Given the description of an element on the screen output the (x, y) to click on. 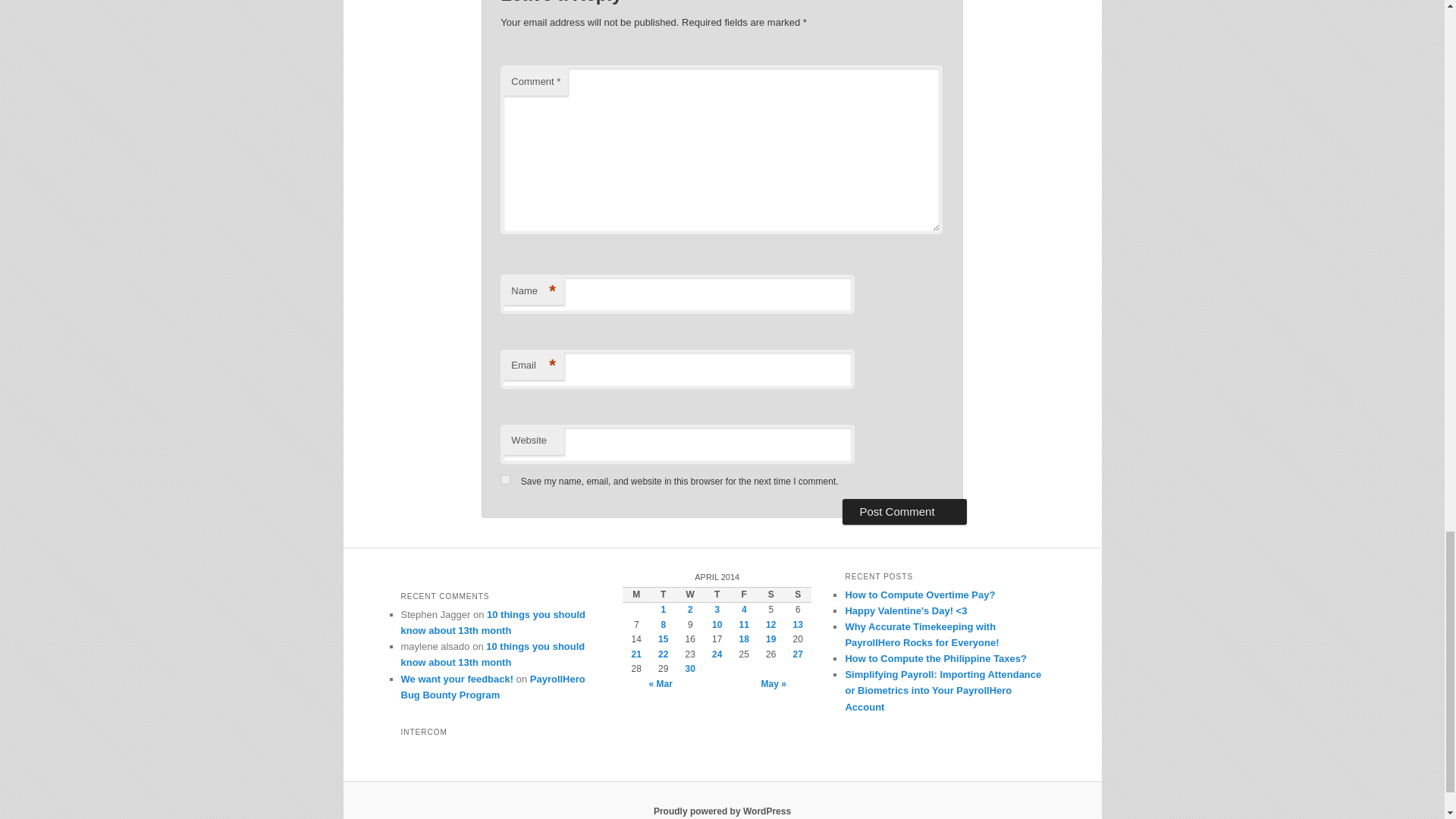
Sunday (797, 595)
Wednesday (690, 595)
We want your feedback! (456, 678)
PayrollHero Bug Bounty Program (492, 687)
Thursday (716, 595)
Semantic Personal Publishing Platform (721, 810)
Saturday (770, 595)
Post Comment (904, 511)
yes (505, 479)
Monday (636, 595)
